Given the description of an element on the screen output the (x, y) to click on. 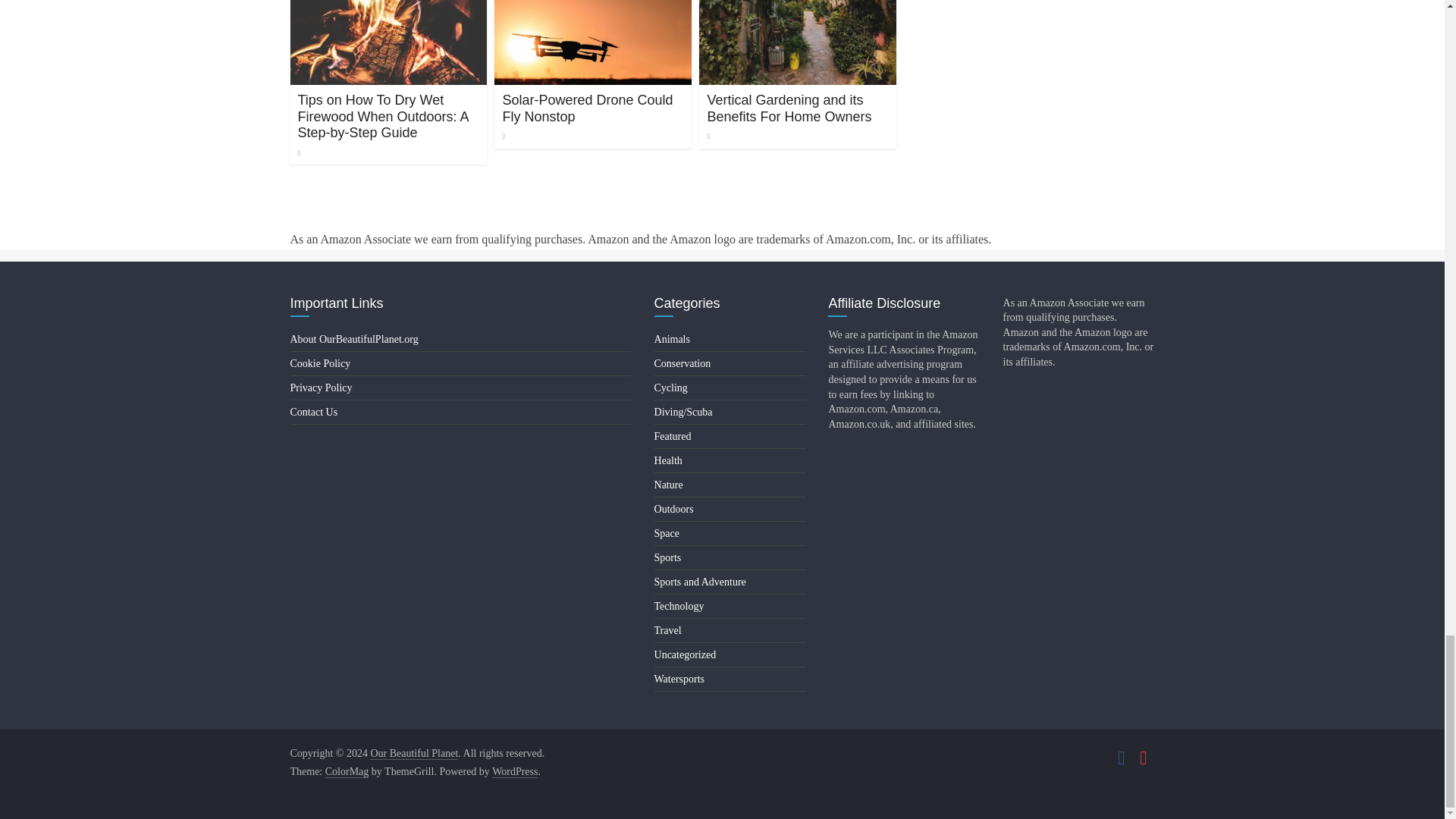
Solar-Powered Drone Could Fly Nonstop (587, 108)
Our Beautiful Planet (413, 753)
ColorMag (346, 771)
WordPress (514, 771)
Vertical Gardening and its Benefits For Home Owners (788, 108)
